Given the description of an element on the screen output the (x, y) to click on. 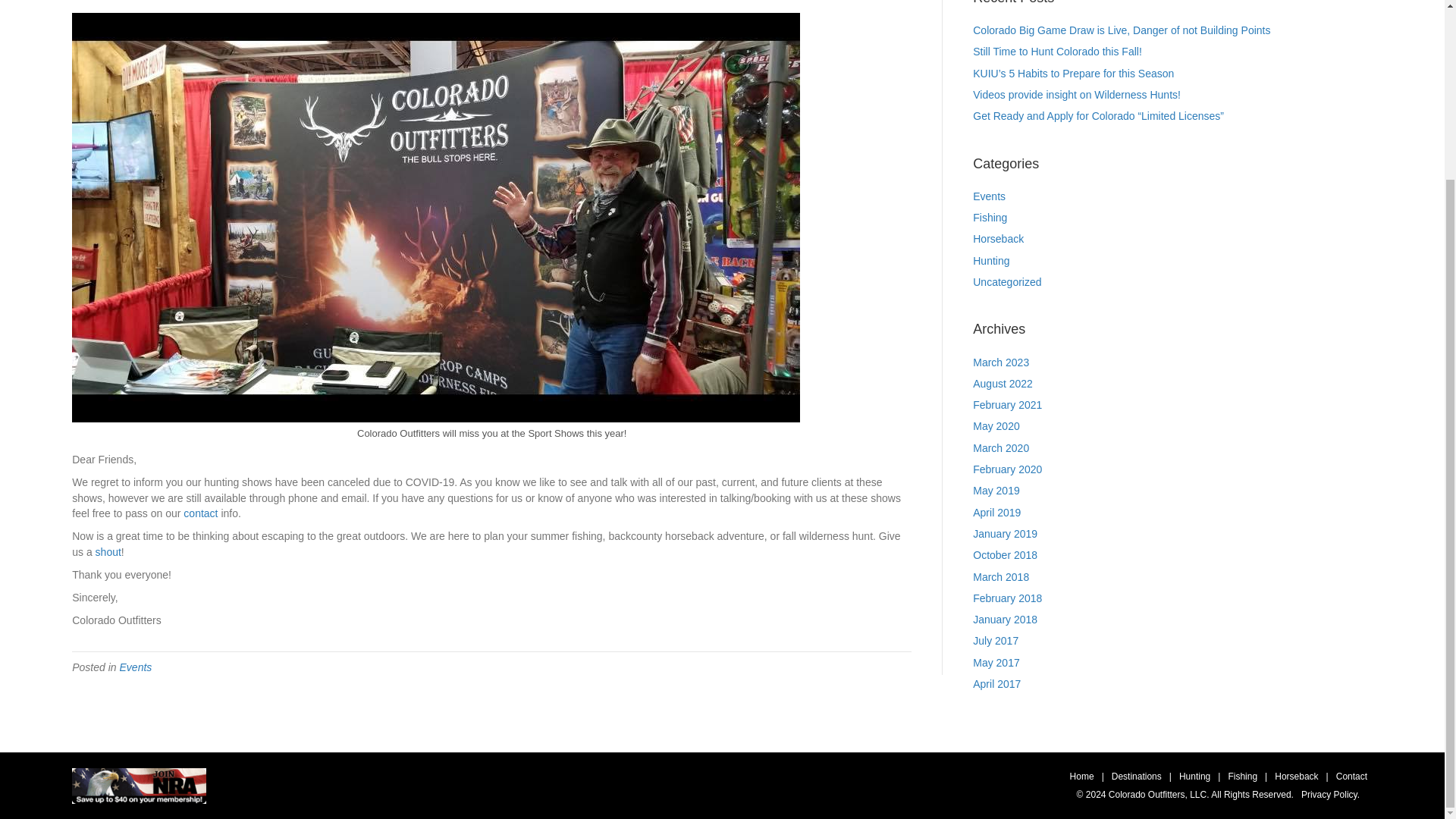
Hunting (1194, 776)
Home (1082, 776)
Fishing (1242, 776)
Privacy Policy (1330, 794)
Horseback (1296, 776)
Contact (1351, 776)
Destinations (1136, 776)
